Given the description of an element on the screen output the (x, y) to click on. 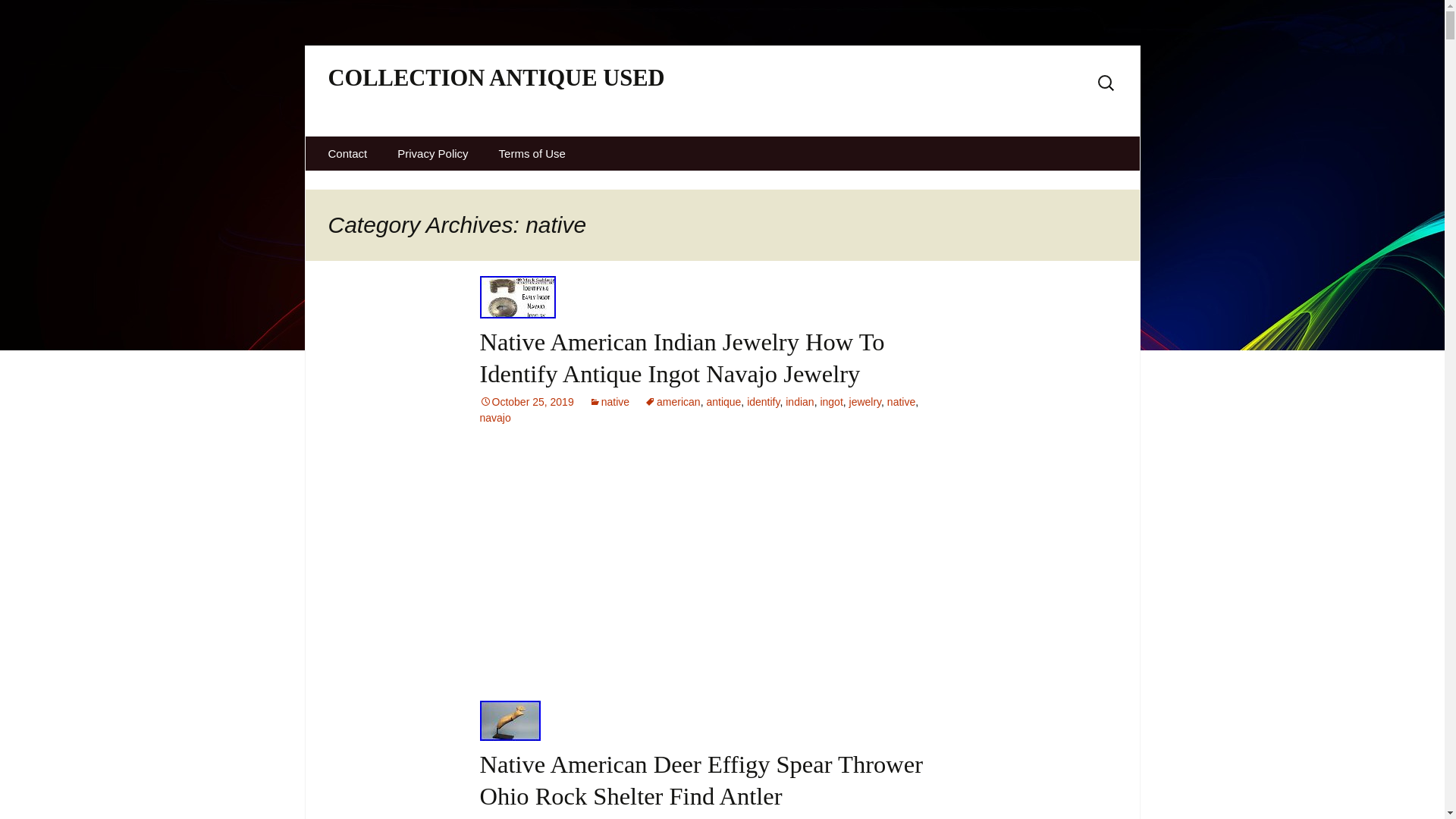
Skip to content (344, 145)
navajo (495, 417)
effigy (772, 818)
October 25, 2019 (526, 401)
native (608, 401)
Privacy Policy (432, 153)
native (827, 818)
COLLECTION ANTIQUE USED (533, 90)
